Given the description of an element on the screen output the (x, y) to click on. 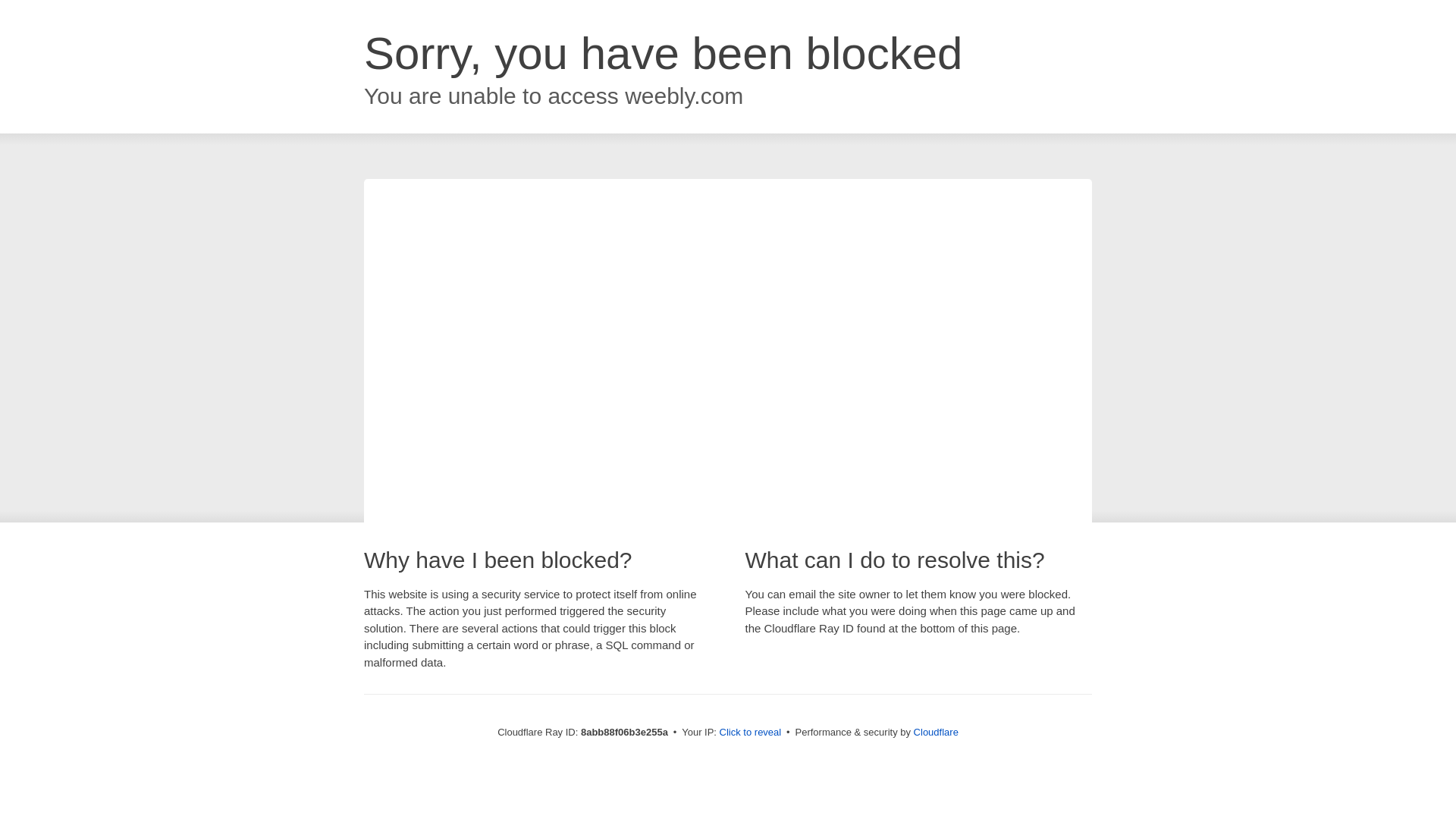
Cloudflare (936, 731)
Click to reveal (750, 732)
